Given the description of an element on the screen output the (x, y) to click on. 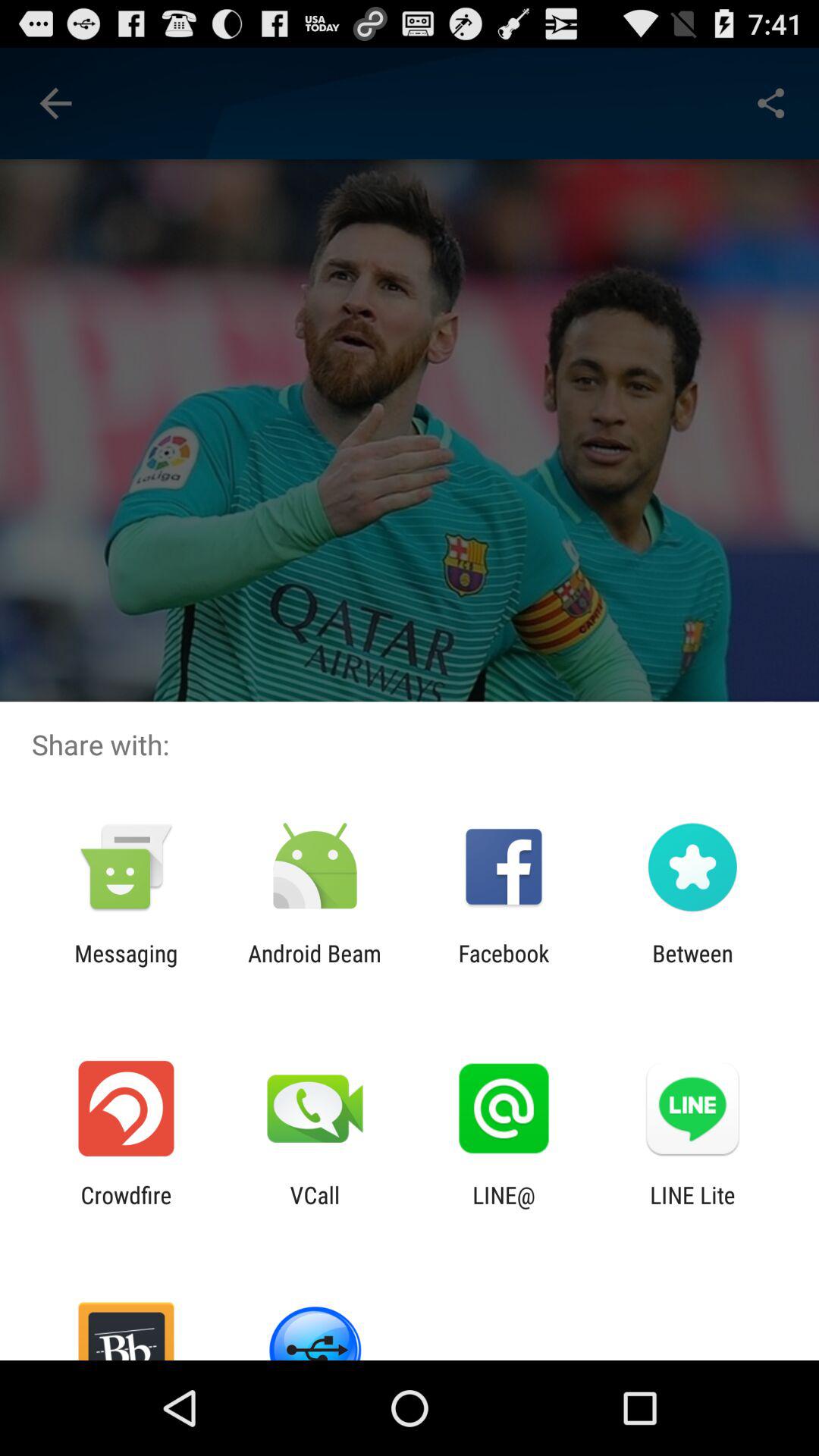
turn off the item next to the line@ icon (692, 1208)
